Given the description of an element on the screen output the (x, y) to click on. 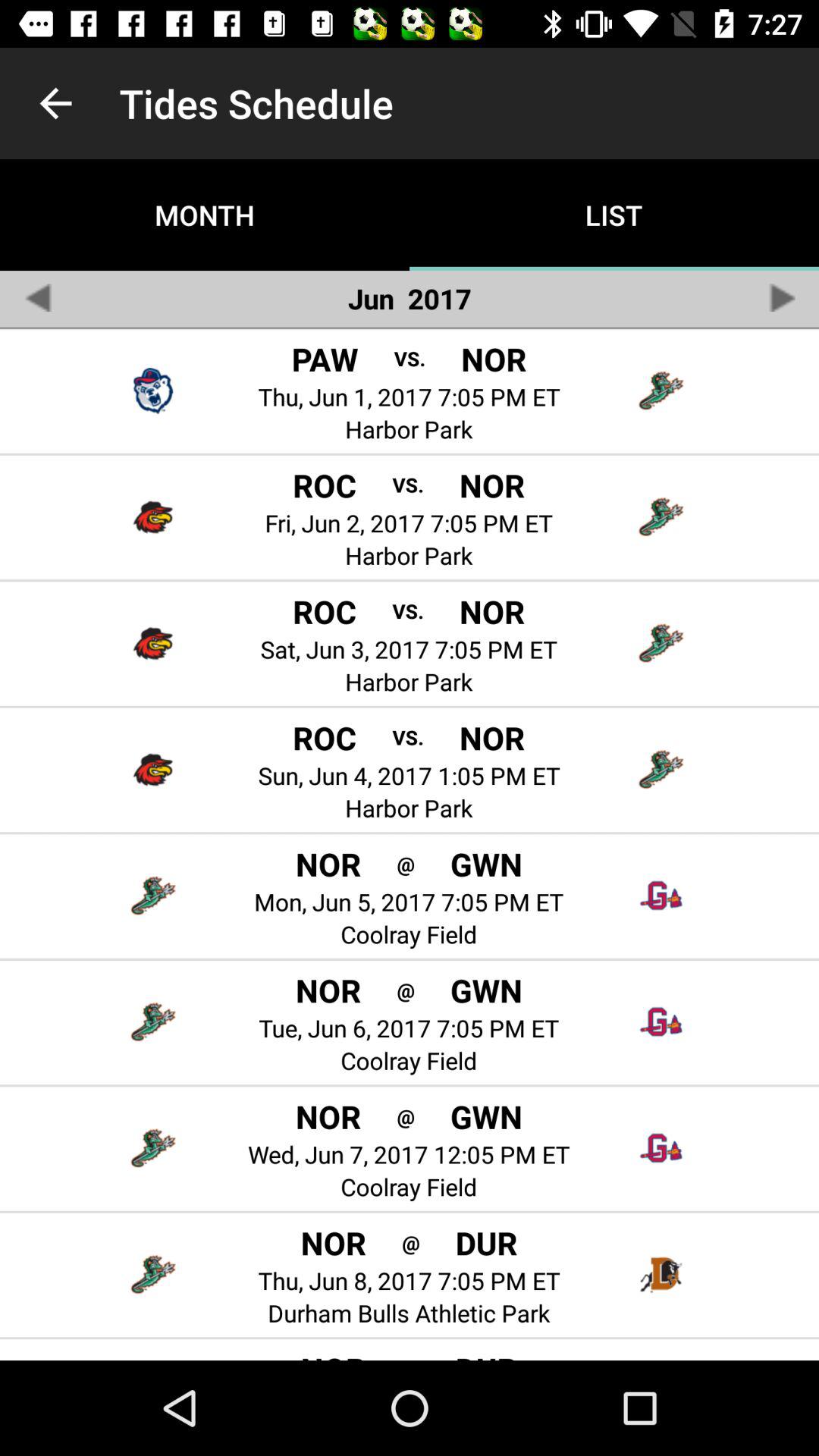
turn off the icon to the left of the dur icon (410, 1242)
